Given the description of an element on the screen output the (x, y) to click on. 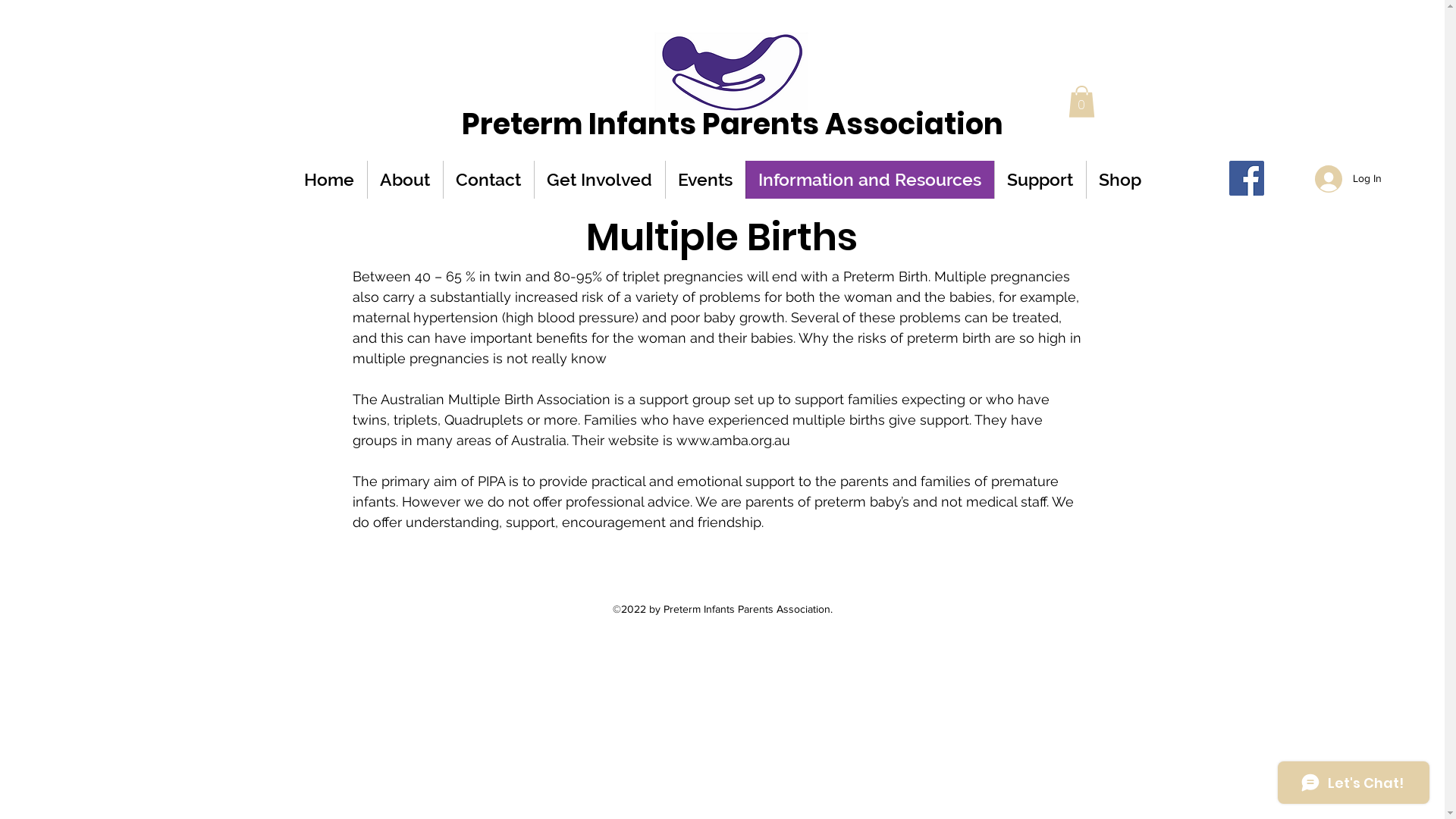
About Element type: text (404, 179)
Shop Element type: text (1119, 179)
0 Element type: text (1080, 101)
www.amba.org.au Element type: text (733, 440)
Contact Element type: text (487, 179)
Get Involved Element type: text (599, 179)
Events Element type: text (705, 179)
Log In Element type: text (1348, 178)
Home Element type: text (329, 179)
Information and Resources Element type: text (869, 179)
Support Element type: text (1039, 179)
Preterm Infants Parents Association Element type: text (732, 123)
